Given the description of an element on the screen output the (x, y) to click on. 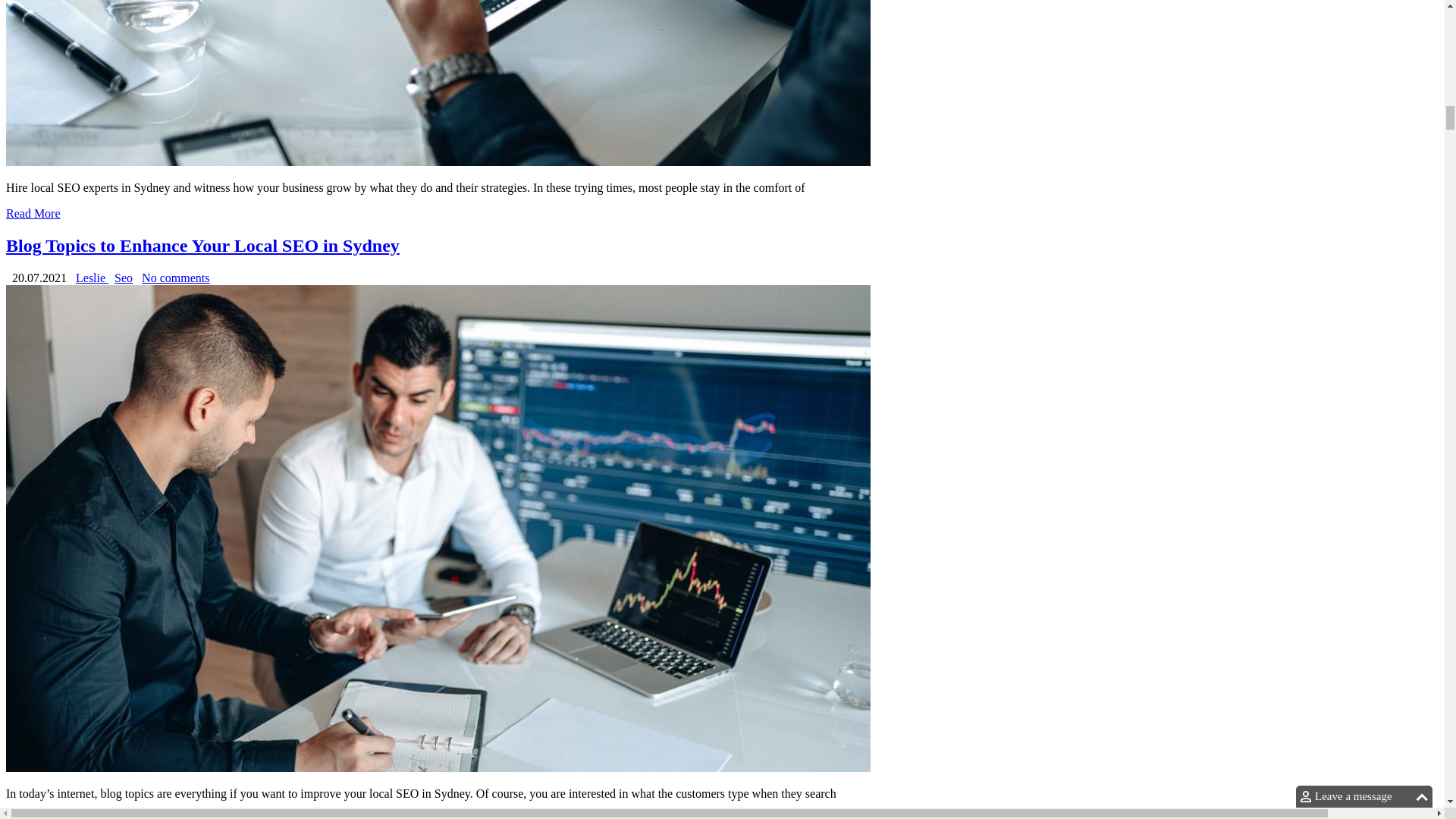
ONLINE MARKETING (126, 727)
Blog Topics to Enhance Your Local SEO in Sydney (33, 816)
